Given the description of an element on the screen output the (x, y) to click on. 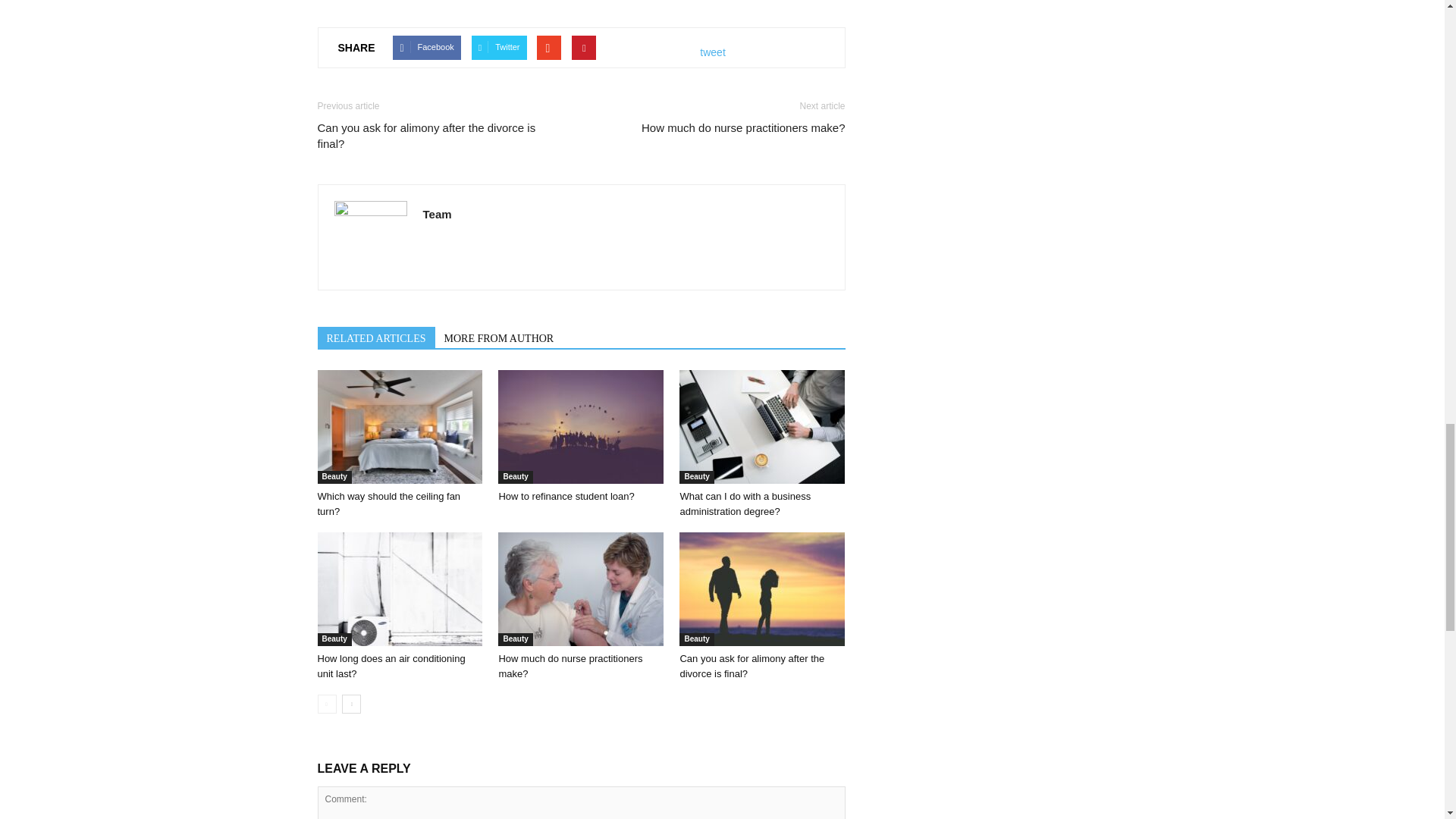
How long does an air conditioning unit last? (390, 665)
How to refinance student loan? (580, 427)
How long does an air conditioning unit last? (399, 589)
What can I do with a business administration degree? (761, 427)
What can I do with a business administration degree? (744, 503)
Which way should the ceiling fan turn? (399, 427)
How to refinance student loan? (565, 496)
Which way should the ceiling fan turn? (388, 503)
